Given the description of an element on the screen output the (x, y) to click on. 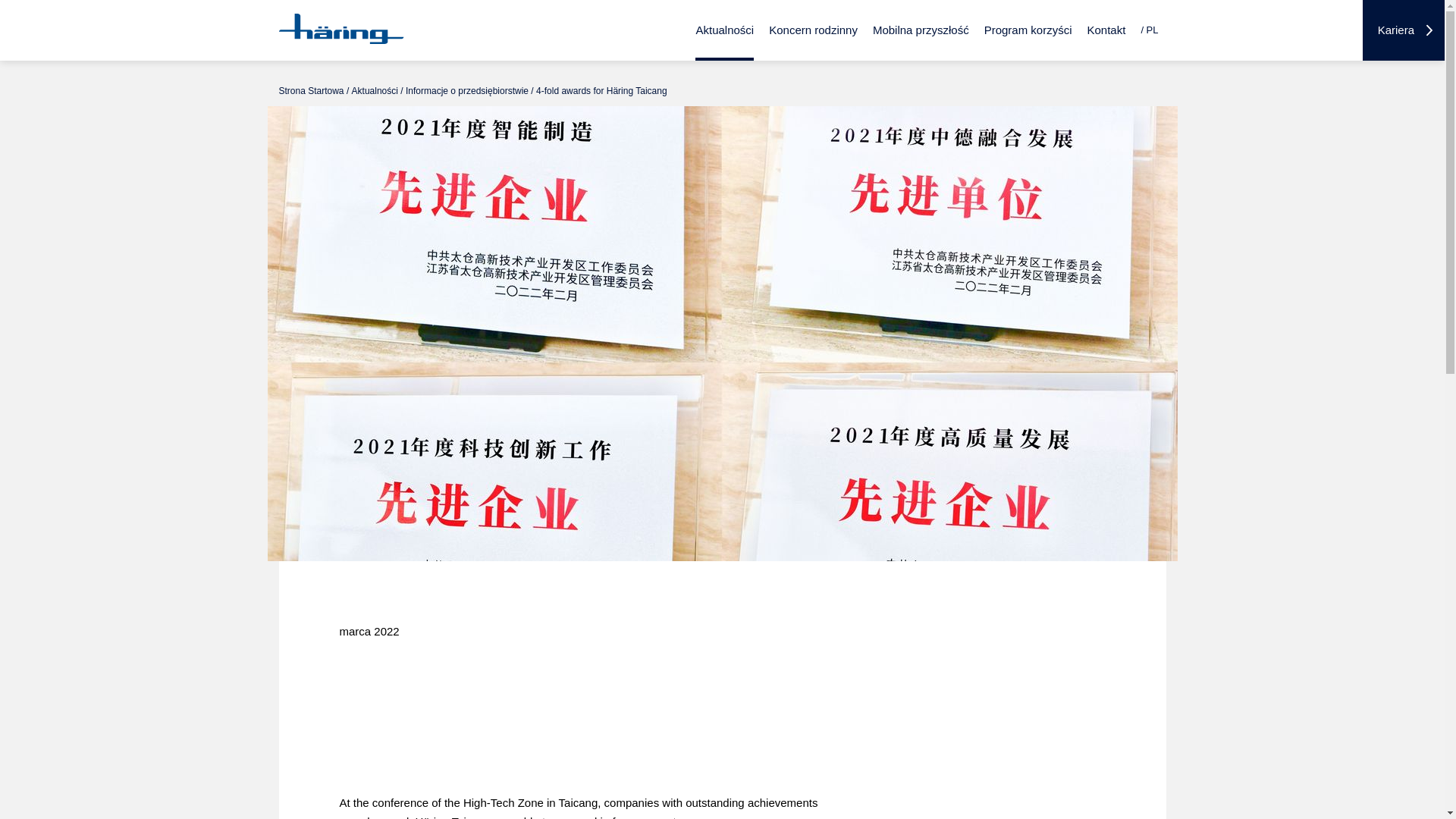
Koncern rodzinny (812, 30)
on (1137, 4)
